Given the description of an element on the screen output the (x, y) to click on. 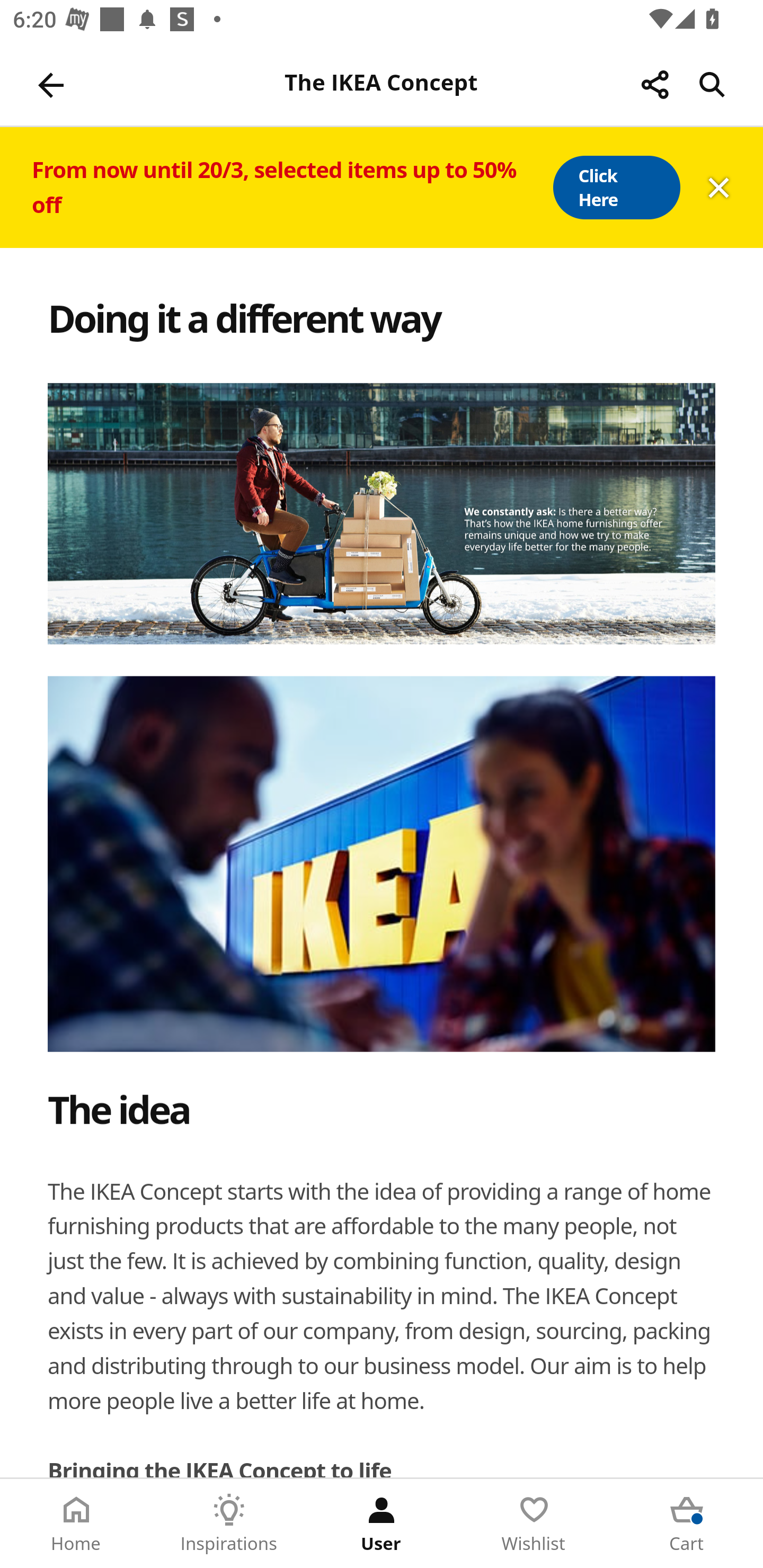
Click Here (615, 187)
Home
Tab 1 of 5 (76, 1522)
Inspirations
Tab 2 of 5 (228, 1522)
User
Tab 3 of 5 (381, 1522)
Wishlist
Tab 4 of 5 (533, 1522)
Cart
Tab 5 of 5 (686, 1522)
